Given the description of an element on the screen output the (x, y) to click on. 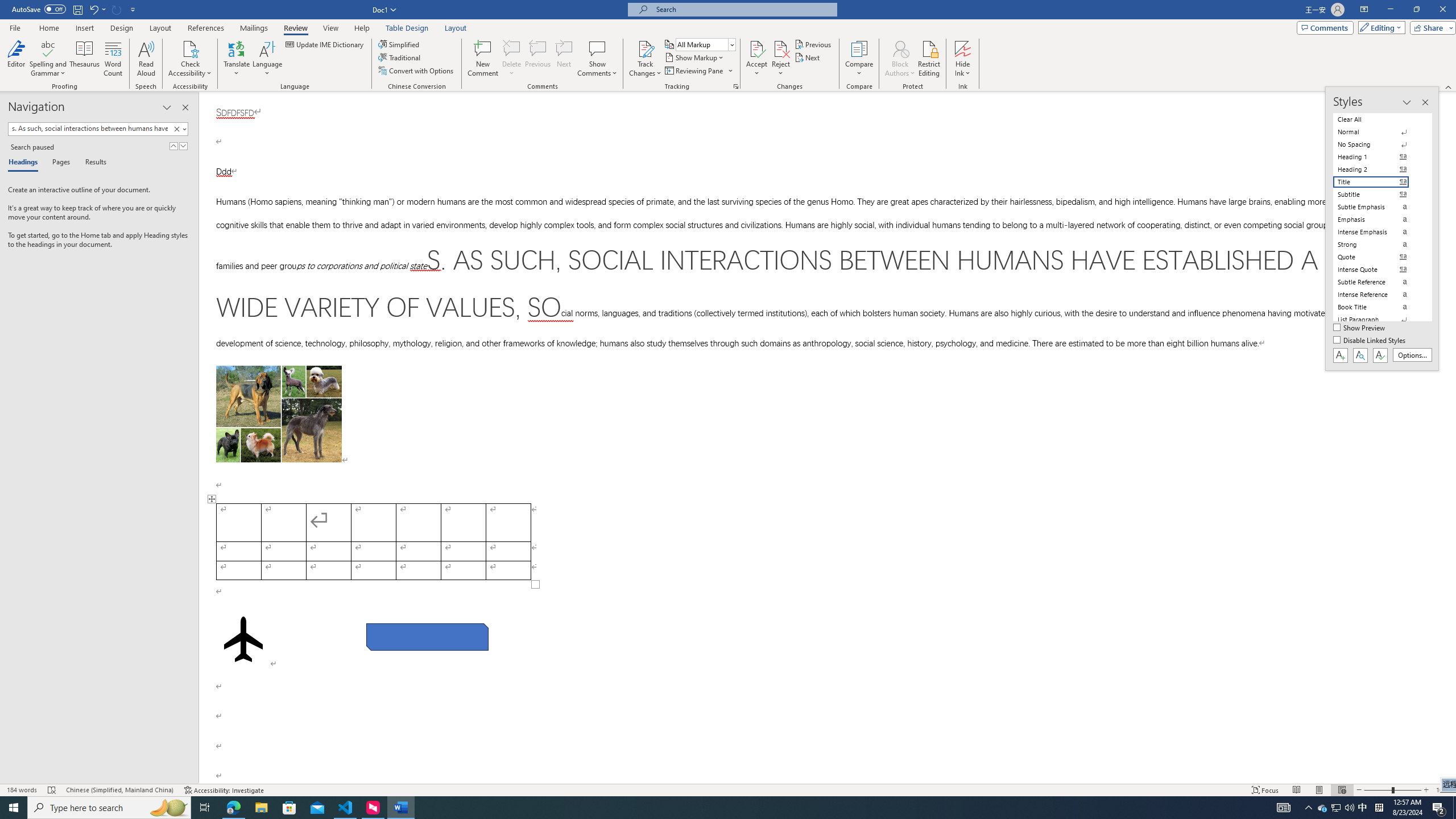
Pages (59, 162)
Strong (1377, 244)
Subtitle (1377, 194)
Block Authors (900, 48)
No Spacing (1377, 144)
Intense Reference (1377, 294)
Table Design (407, 28)
Compare (859, 58)
Check Accessibility (189, 48)
Delete (511, 48)
